Given the description of an element on the screen output the (x, y) to click on. 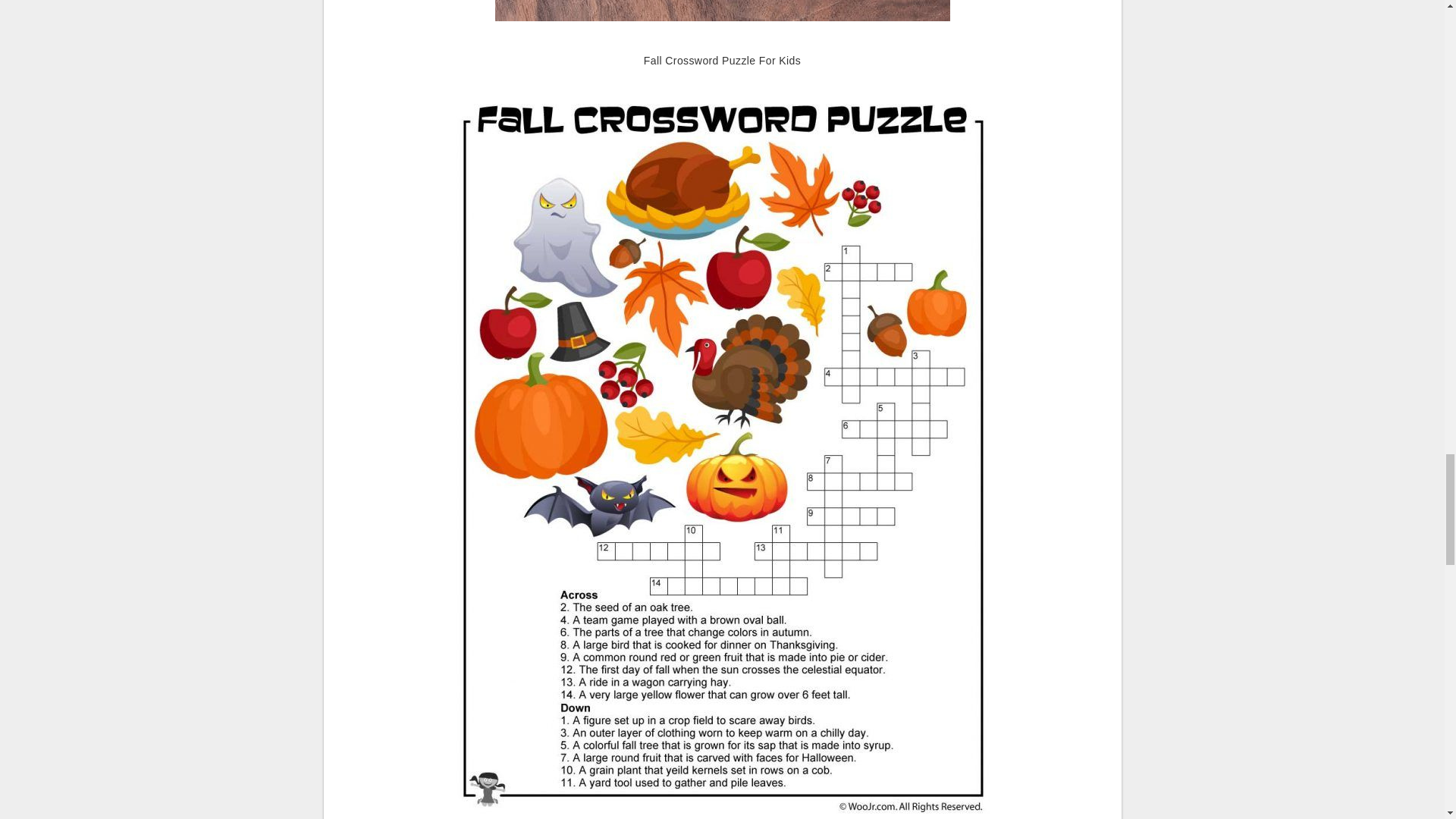
fall crossword puzzle for kids 2 (722, 18)
